Given the description of an element on the screen output the (x, y) to click on. 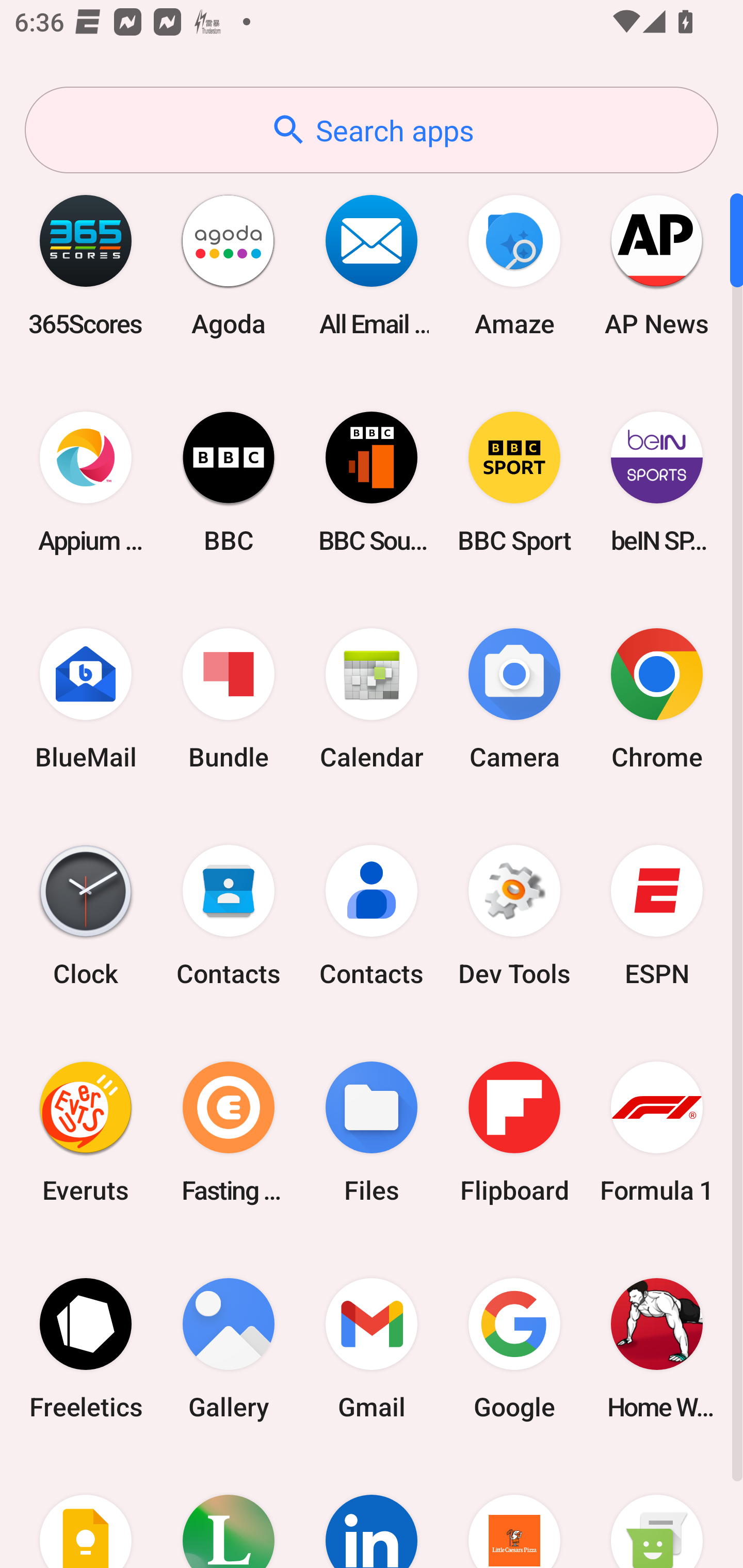
  Search apps (371, 130)
365Scores (85, 264)
Agoda (228, 264)
All Email Connect (371, 264)
Amaze (514, 264)
AP News (656, 264)
Appium Settings (85, 482)
BBC (228, 482)
BBC Sounds (371, 482)
BBC Sport (514, 482)
beIN SPORTS (656, 482)
BlueMail (85, 699)
Bundle (228, 699)
Calendar (371, 699)
Camera (514, 699)
Chrome (656, 699)
Clock (85, 915)
Contacts (228, 915)
Contacts (371, 915)
Dev Tools (514, 915)
ESPN (656, 915)
Everuts (85, 1131)
Fasting Coach (228, 1131)
Files (371, 1131)
Flipboard (514, 1131)
Formula 1 (656, 1131)
Freeletics (85, 1348)
Gallery (228, 1348)
Gmail (371, 1348)
Google (514, 1348)
Home Workout (656, 1348)
Keep Notes (85, 1512)
Lifesum (228, 1512)
LinkedIn (371, 1512)
Little Caesars Pizza (514, 1512)
Messaging (656, 1512)
